Given the description of an element on the screen output the (x, y) to click on. 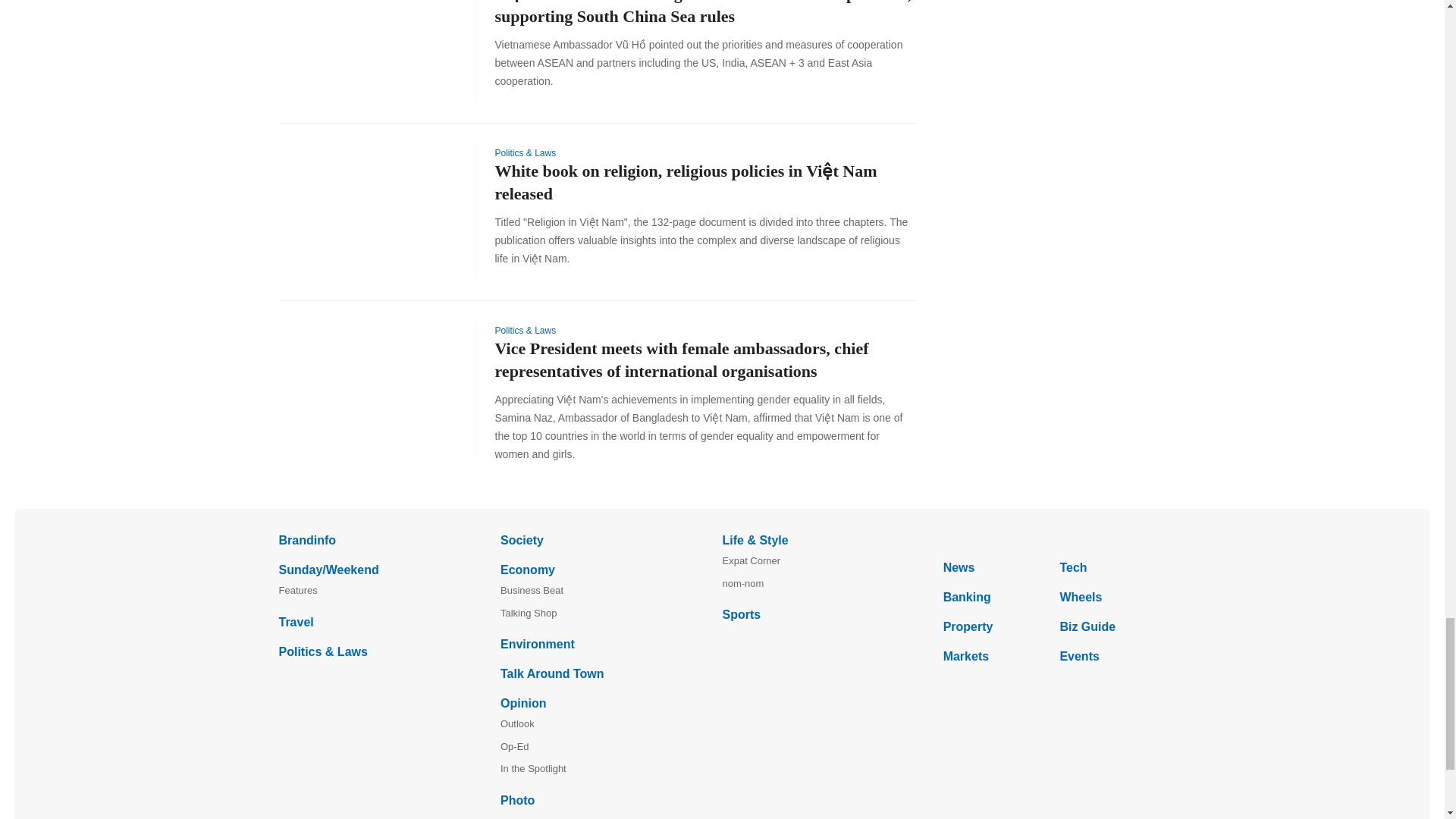
bizhub (1054, 539)
